Given the description of an element on the screen output the (x, y) to click on. 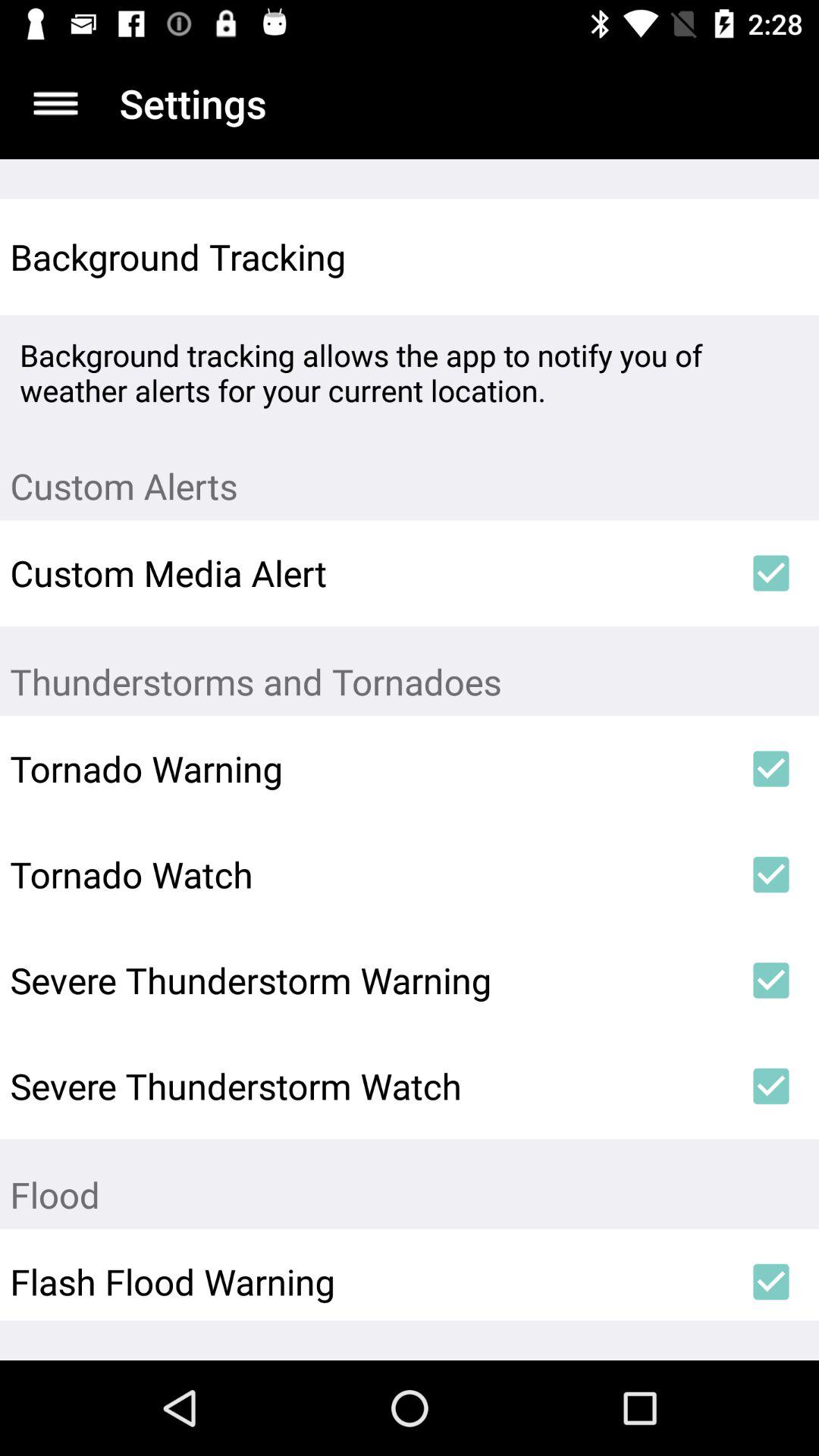
tap the item above background tracking (55, 103)
